Given the description of an element on the screen output the (x, y) to click on. 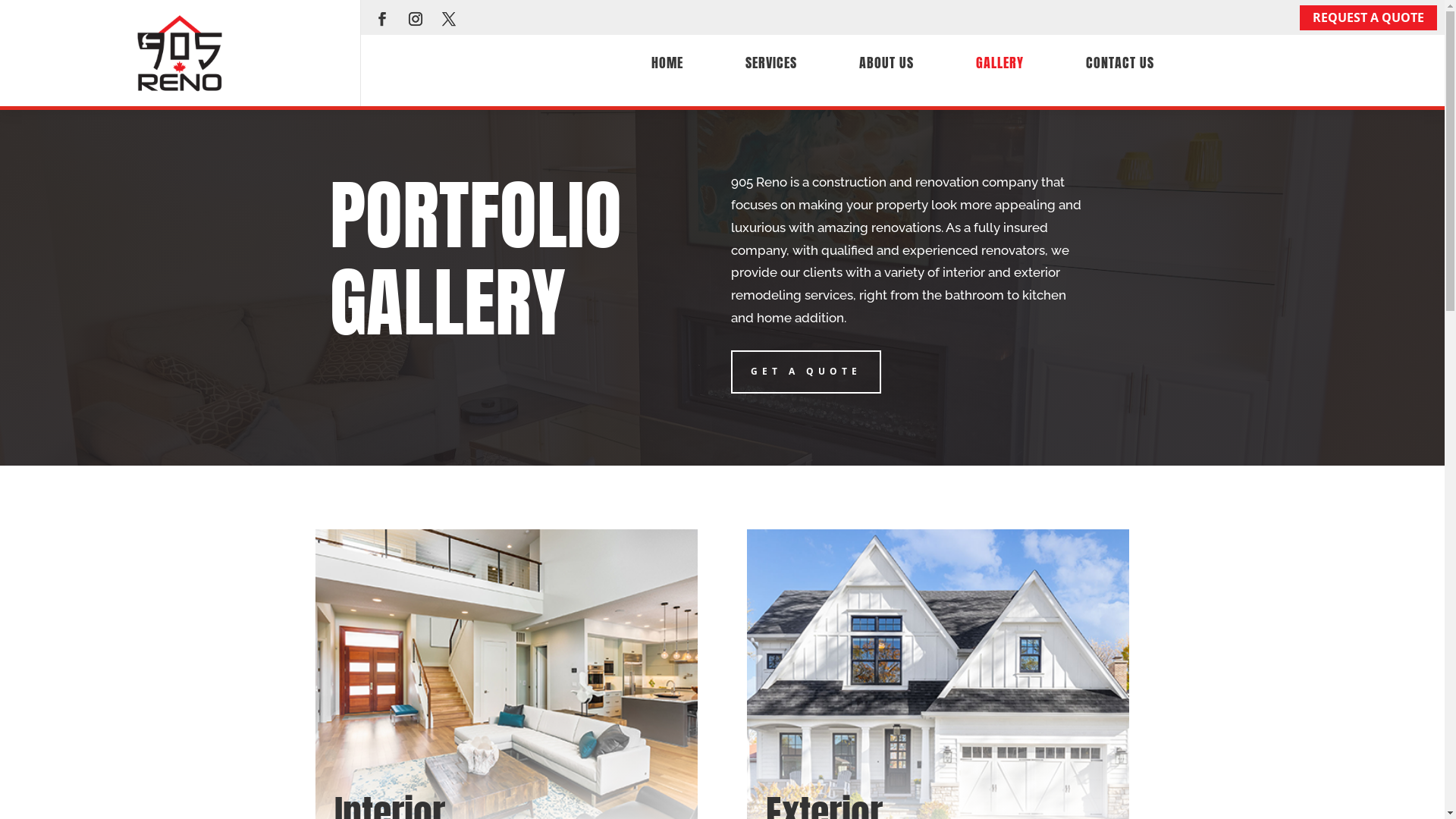
Follow on Instagram Element type: hover (415, 18)
Follow on X Element type: hover (448, 18)
GALLERY Element type: text (999, 57)
905-reno-logo-black-clear copy Element type: hover (179, 52)
Follow on Facebook Element type: hover (381, 18)
HOME Element type: text (667, 57)
SERVICES Element type: text (771, 57)
ABOUT US Element type: text (886, 57)
GET A QUOTE Element type: text (806, 371)
CONTACT US Element type: text (1119, 57)
REQUEST A QUOTE Element type: text (1368, 17)
